Given the description of an element on the screen output the (x, y) to click on. 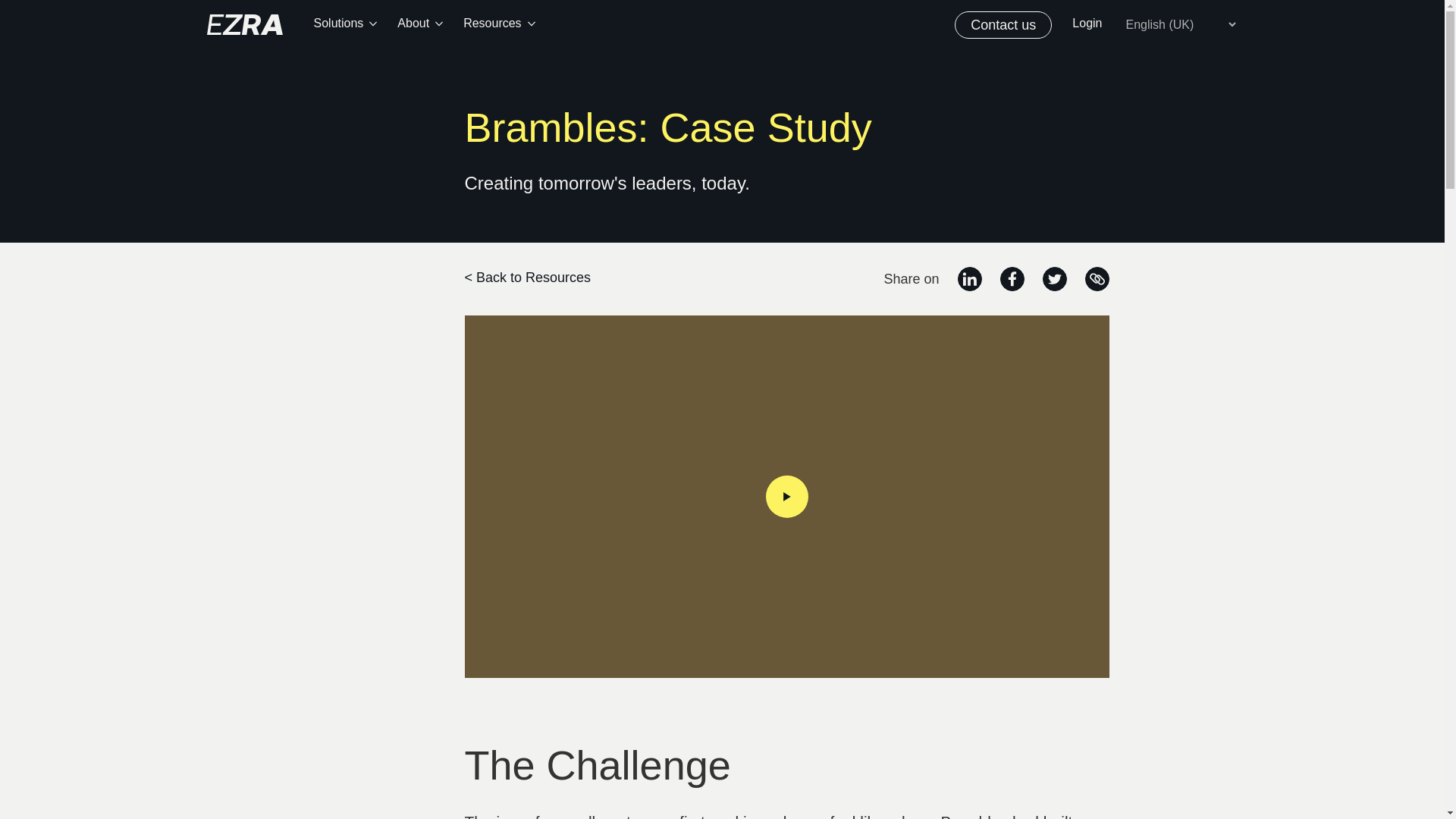
Login (1086, 25)
Resources (498, 25)
Contact us (1003, 23)
About (419, 25)
Solutions (345, 25)
